Given the description of an element on the screen output the (x, y) to click on. 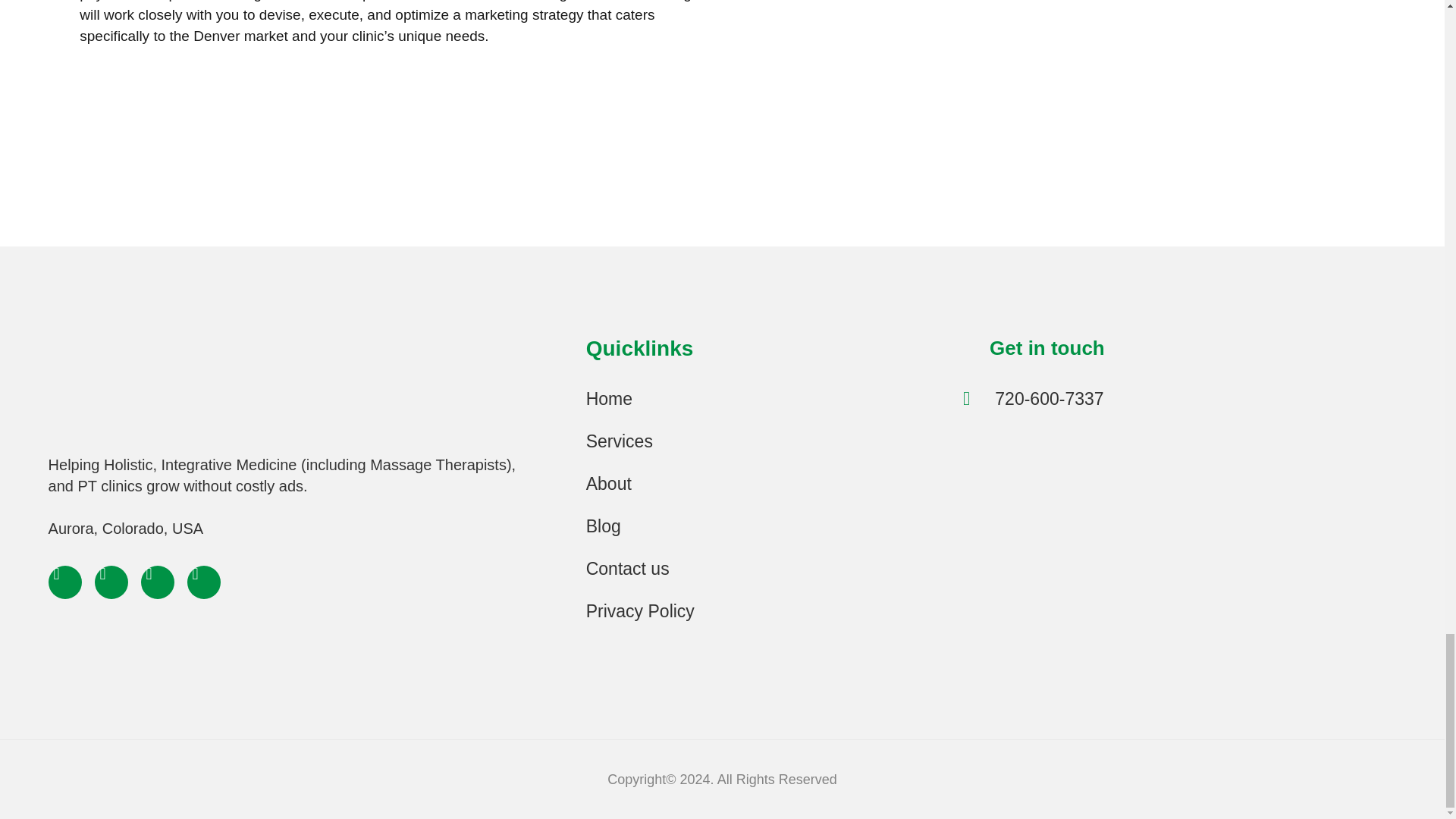
Services (767, 441)
Home (767, 398)
Contact us (767, 568)
Blog (767, 526)
About (767, 483)
Privacy Policy (767, 610)
